Given the description of an element on the screen output the (x, y) to click on. 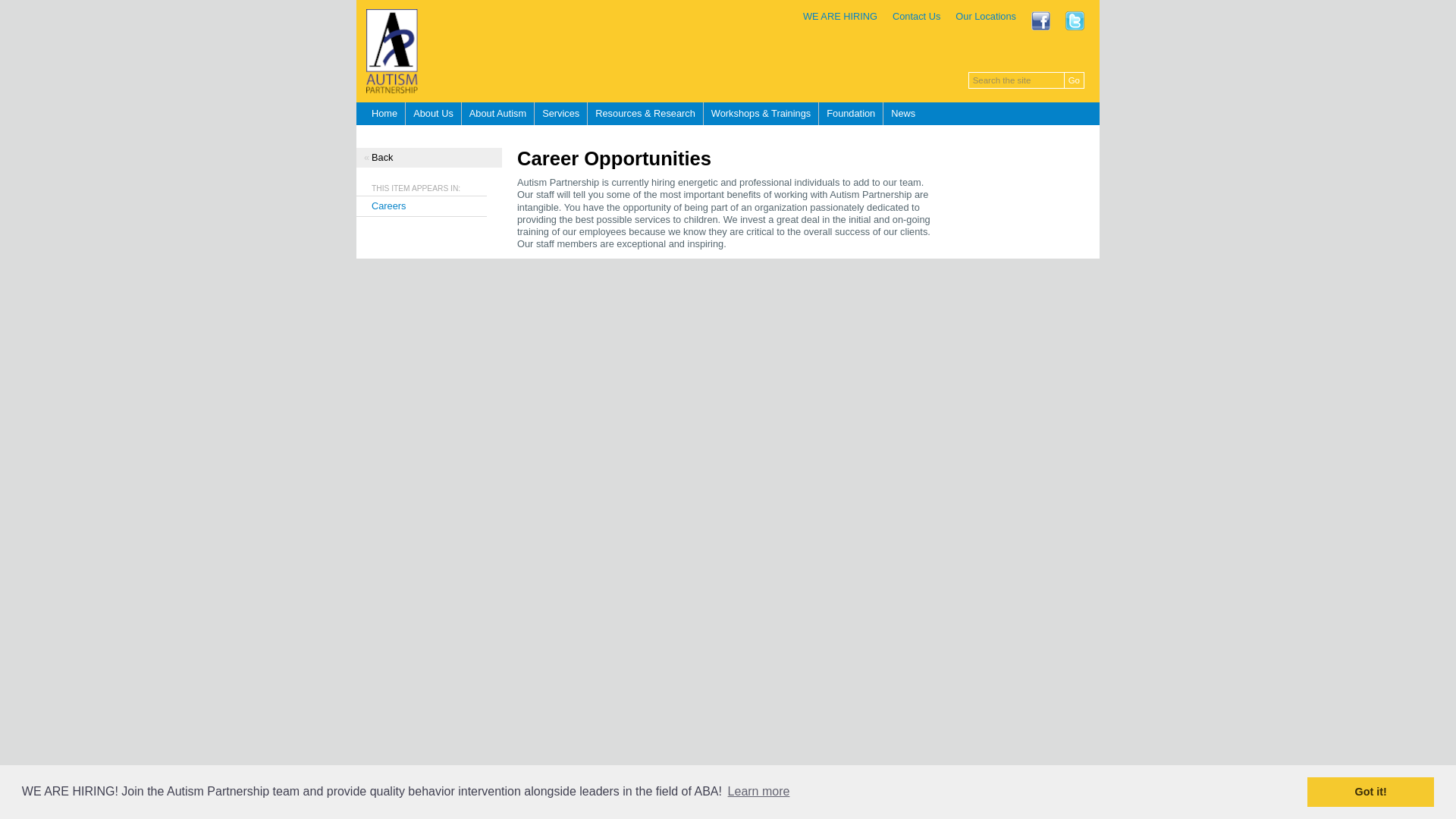
Our Locations (985, 16)
Services (561, 113)
Contact Us (916, 16)
Search keywords (1016, 79)
Home (381, 113)
Home (381, 113)
WE ARE HIRING (840, 16)
About Autism (497, 113)
About Us (433, 113)
Go (1073, 79)
WE ARE HIRING (840, 16)
Our Locations (985, 16)
Autism Partnership home page (727, 51)
About Autism (497, 113)
About Us (433, 113)
